Given the description of an element on the screen output the (x, y) to click on. 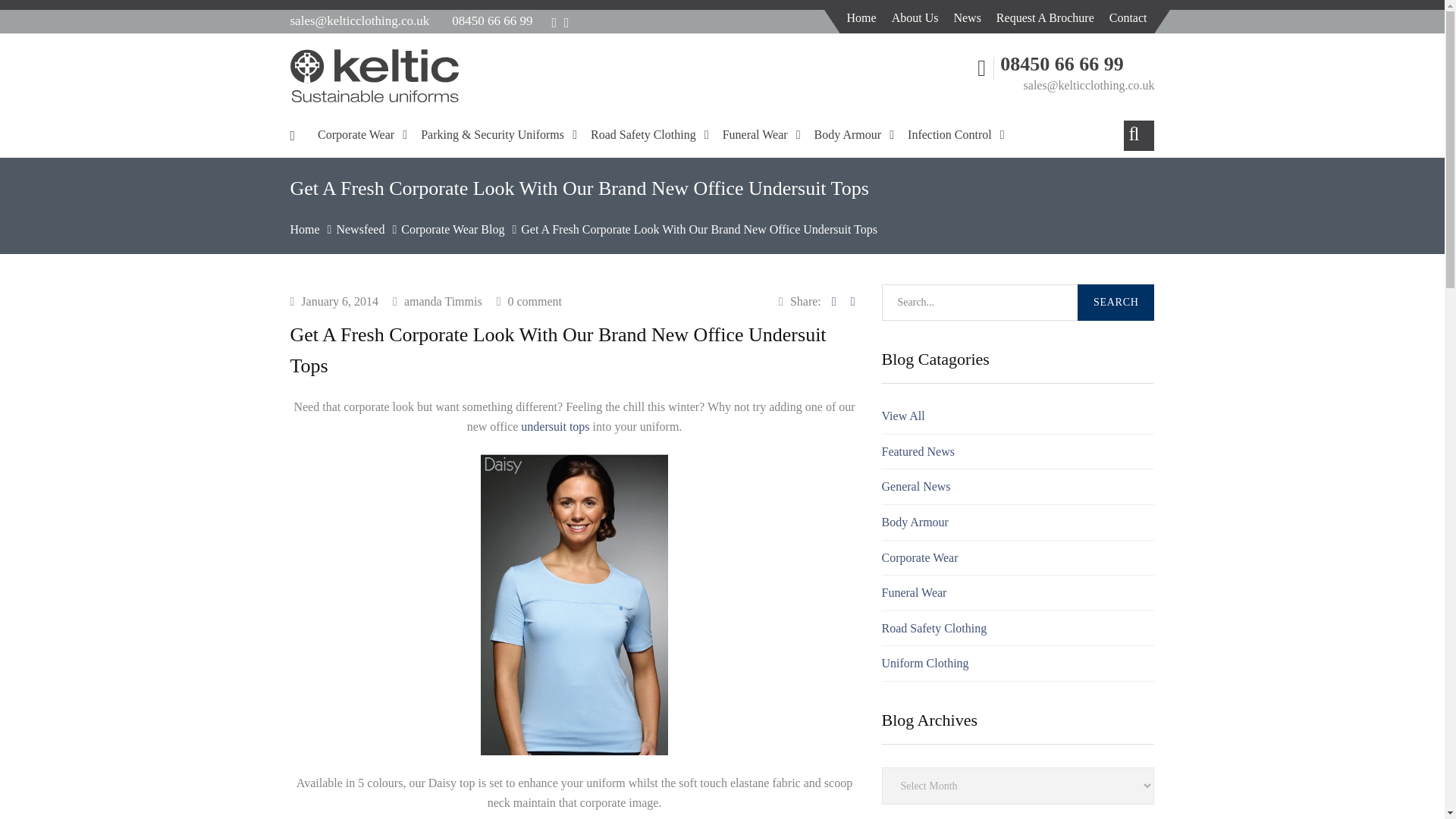
Search for: (1017, 302)
Search (1115, 302)
News (966, 17)
08450 66 66 99 (491, 20)
Body Armour (913, 521)
About Us (915, 17)
Request A Brochure (1044, 17)
Funeral Wear  (913, 592)
General News (915, 486)
Home (861, 17)
